Given the description of an element on the screen output the (x, y) to click on. 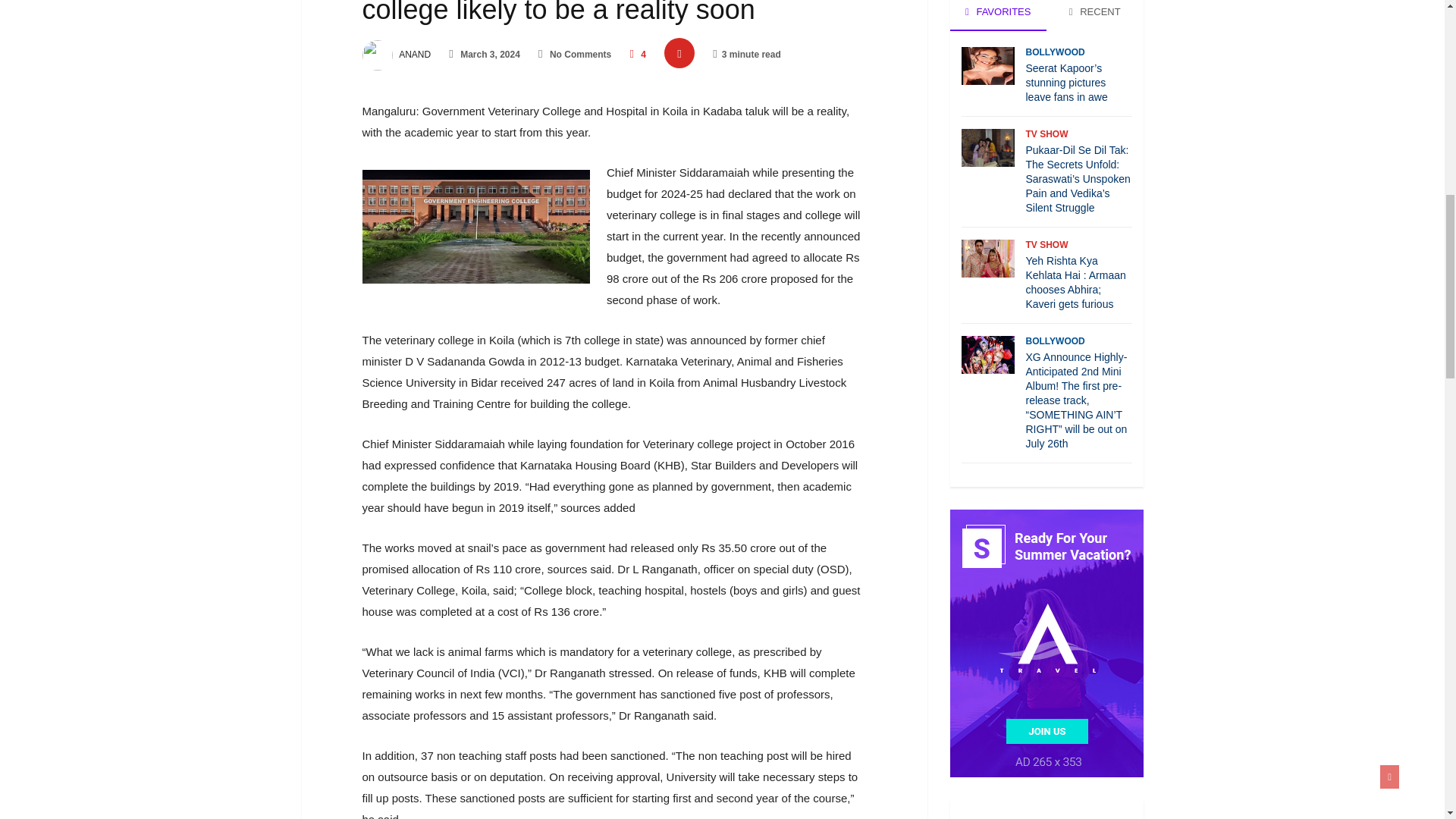
ANAND (396, 54)
